Given the description of an element on the screen output the (x, y) to click on. 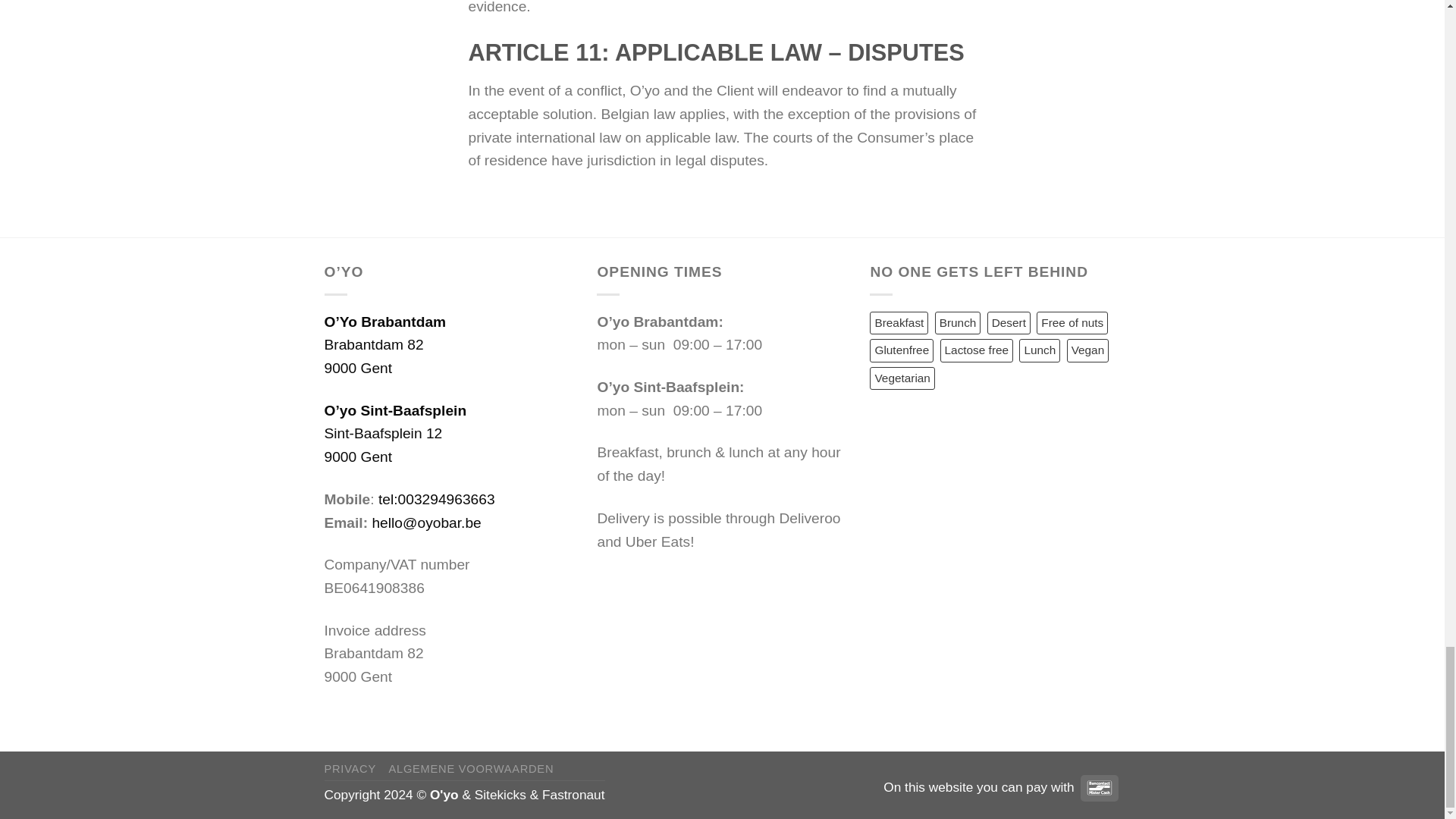
ALGEMENE VOORWAARDEN (471, 768)
Vegan (1088, 350)
9000 Gent (358, 367)
Brunch (957, 323)
9000 Gent (358, 456)
Breakfast (898, 323)
tel:003294963663 (436, 498)
Lactose free (976, 350)
Fastronaut (573, 794)
PRIVACY (349, 768)
